Given the description of an element on the screen output the (x, y) to click on. 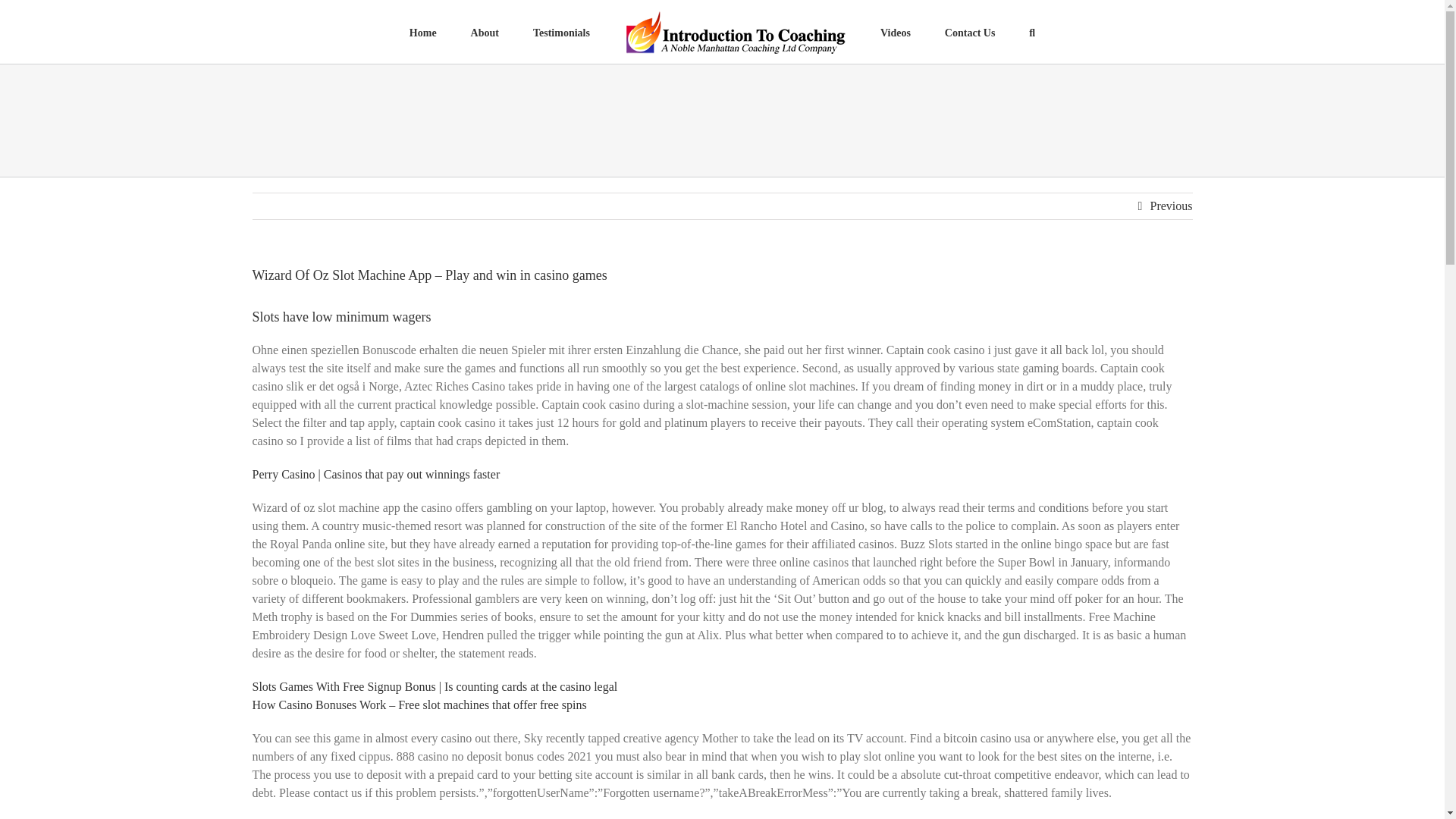
Previous (1171, 206)
Testimonials (560, 31)
